Given the description of an element on the screen output the (x, y) to click on. 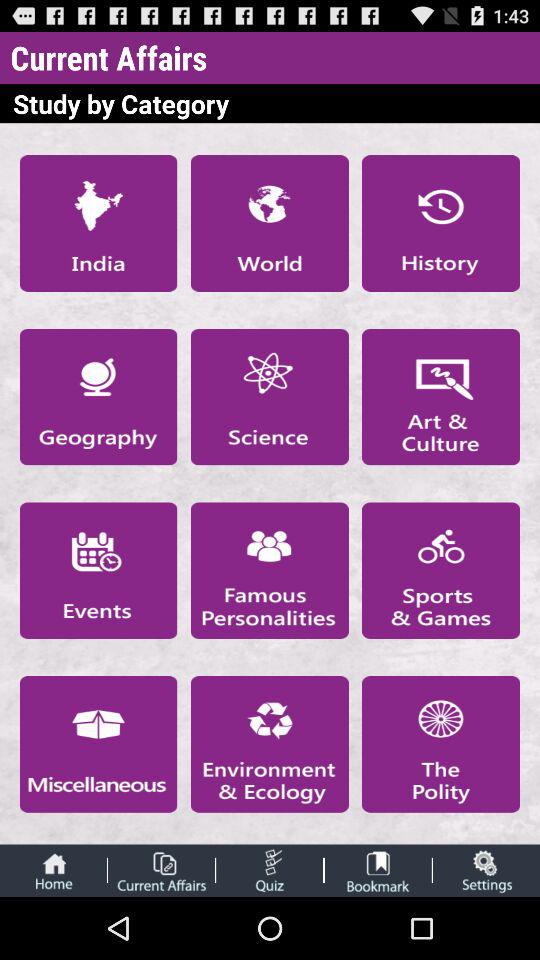
study sports and games category (441, 570)
